Given the description of an element on the screen output the (x, y) to click on. 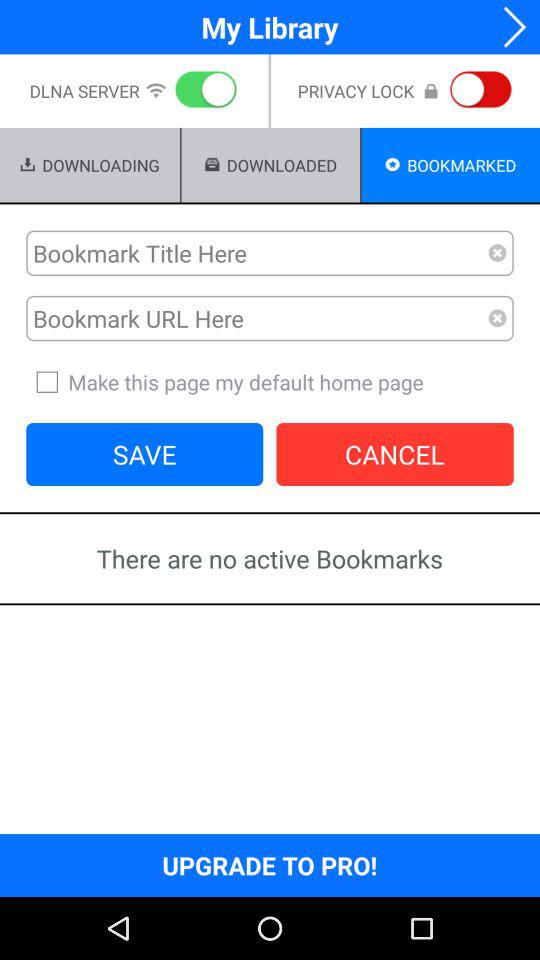
scroll until make this page checkbox (269, 382)
